Given the description of an element on the screen output the (x, y) to click on. 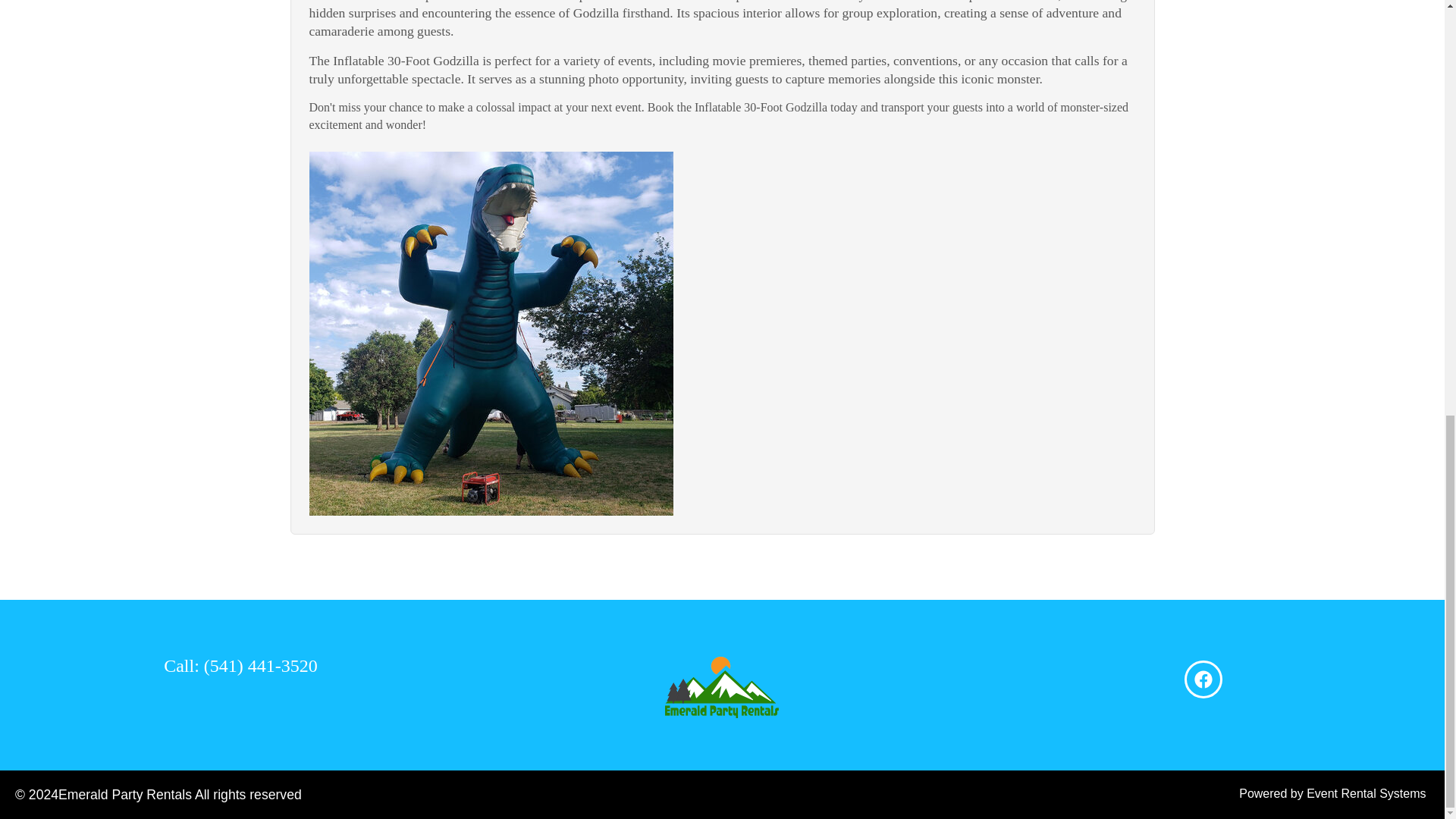
Emerald Party Rentals Facebook (1204, 678)
Event Rental Systems (1365, 793)
